Given the description of an element on the screen output the (x, y) to click on. 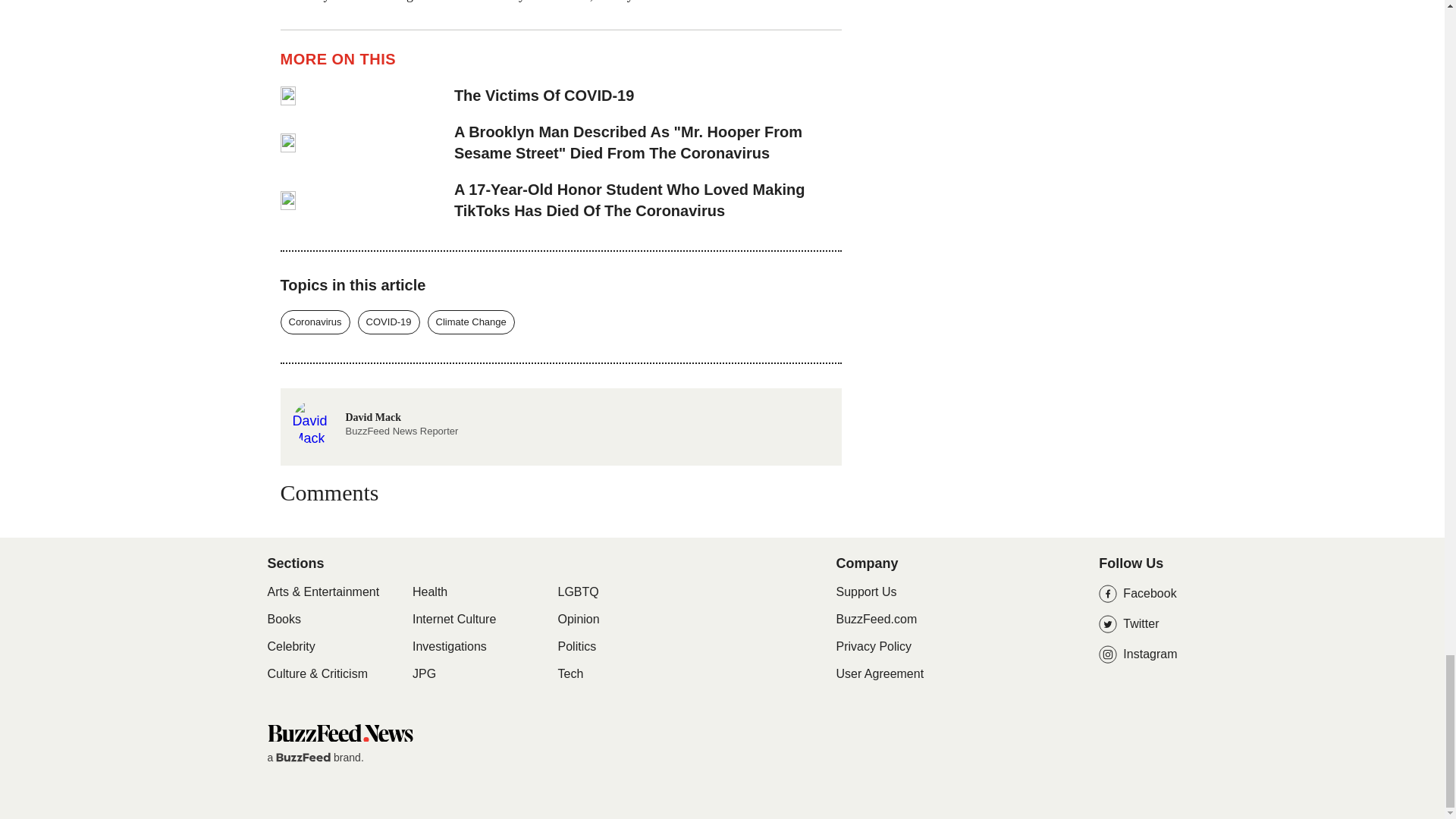
The Victims Of COVID-19 (647, 95)
BuzzFeed News Home (339, 732)
Coronavirus (315, 322)
BuzzFeed (303, 757)
